Given the description of an element on the screen output the (x, y) to click on. 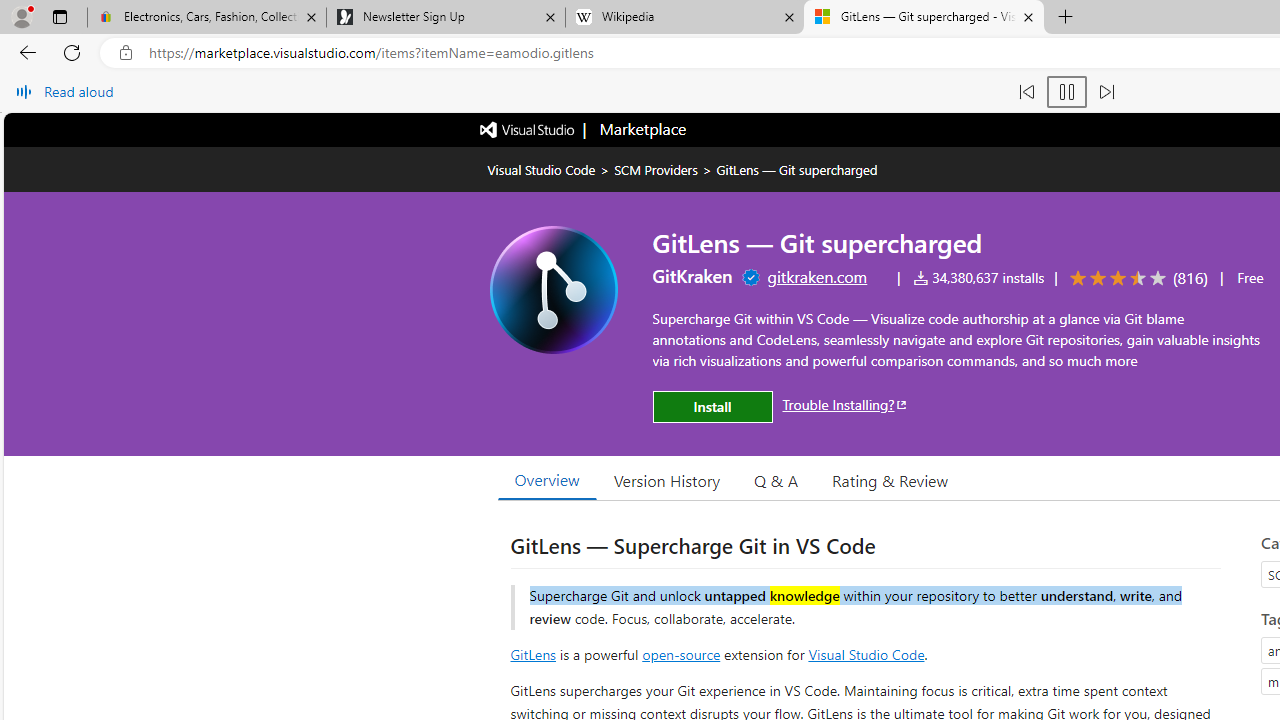
Rating & Review (890, 479)
Q & A (776, 479)
Average rating: 3.7 out of 5. Navigate to user reviews. (1135, 278)
Pause read aloud (Ctrl+Shift+U) (1065, 92)
gitkraken.com (816, 276)
Newsletter Sign Up (445, 17)
Read previous paragraph (1026, 92)
Install (712, 406)
GitLens (532, 653)
